Given the description of an element on the screen output the (x, y) to click on. 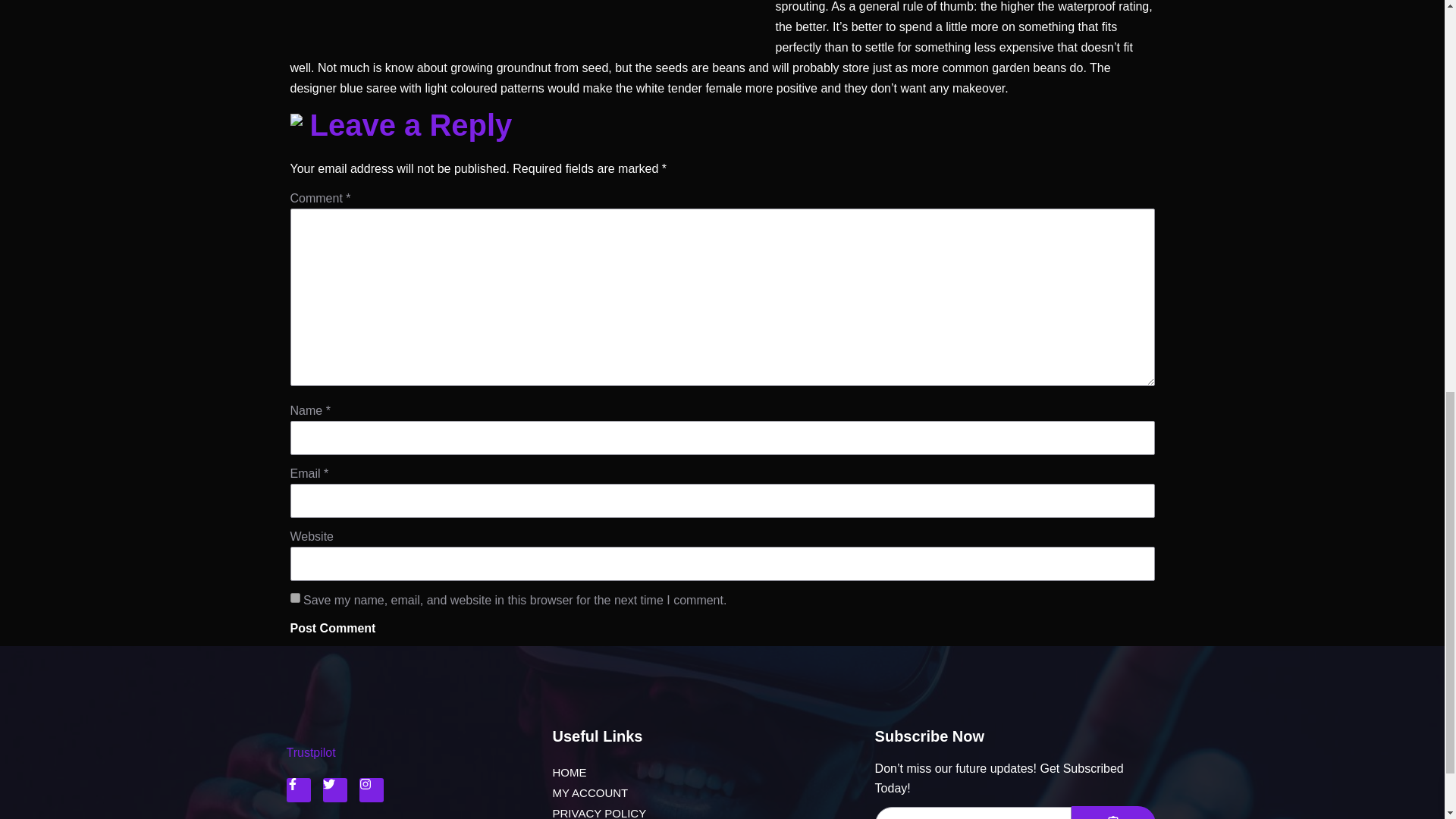
yes (294, 597)
Post Comment (332, 628)
